Given the description of an element on the screen output the (x, y) to click on. 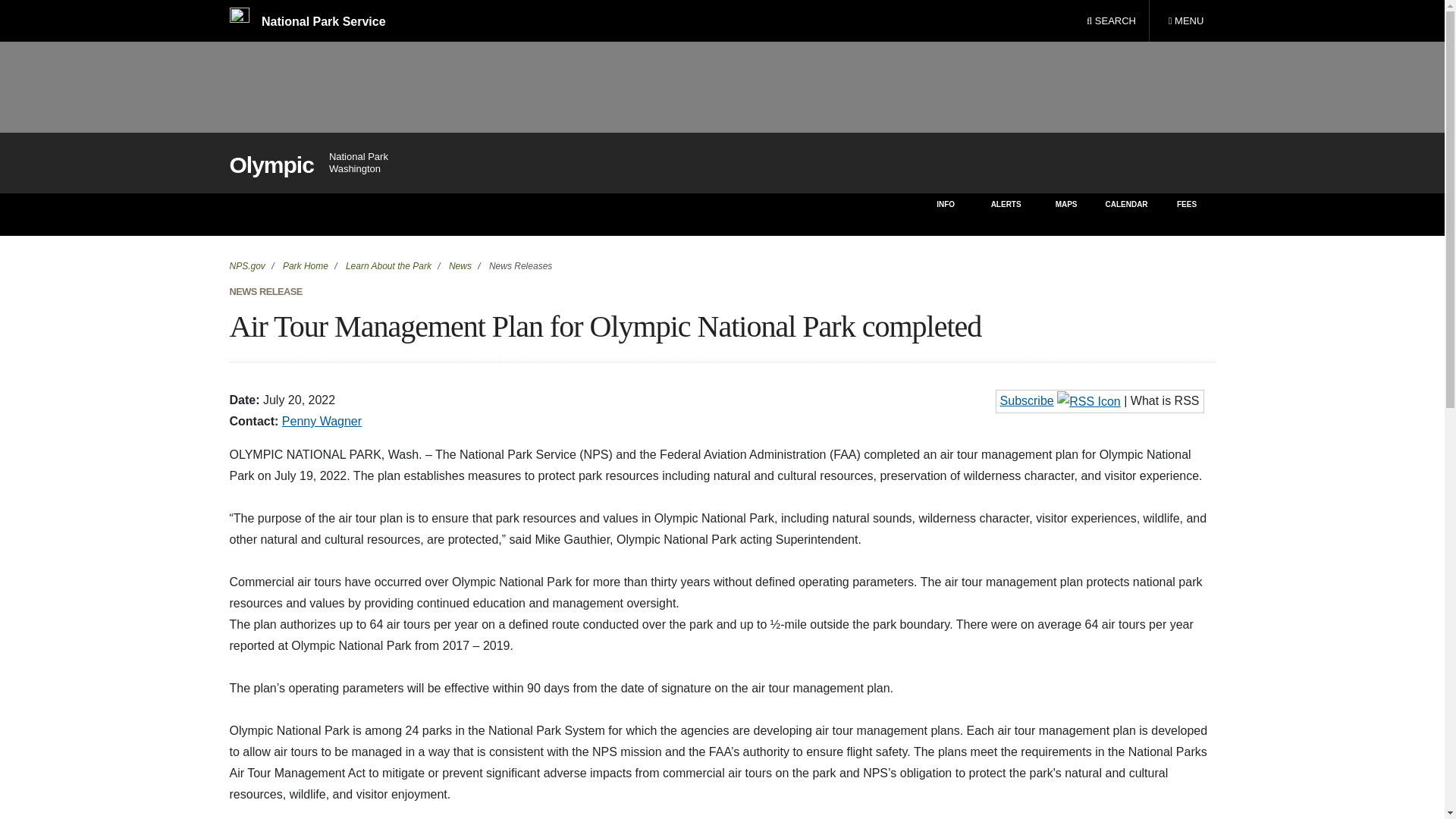
FEES (1186, 214)
News (458, 266)
SEARCH (1111, 20)
MAPS (1066, 214)
National Park Service (307, 20)
INFO (945, 214)
Learn About the Park (386, 266)
Olympic (270, 164)
Penny Wagner (321, 420)
CALENDAR (1125, 214)
NPS.gov (1185, 20)
Park Home (246, 266)
Subscribe (305, 266)
ALERTS (1027, 400)
